Given the description of an element on the screen output the (x, y) to click on. 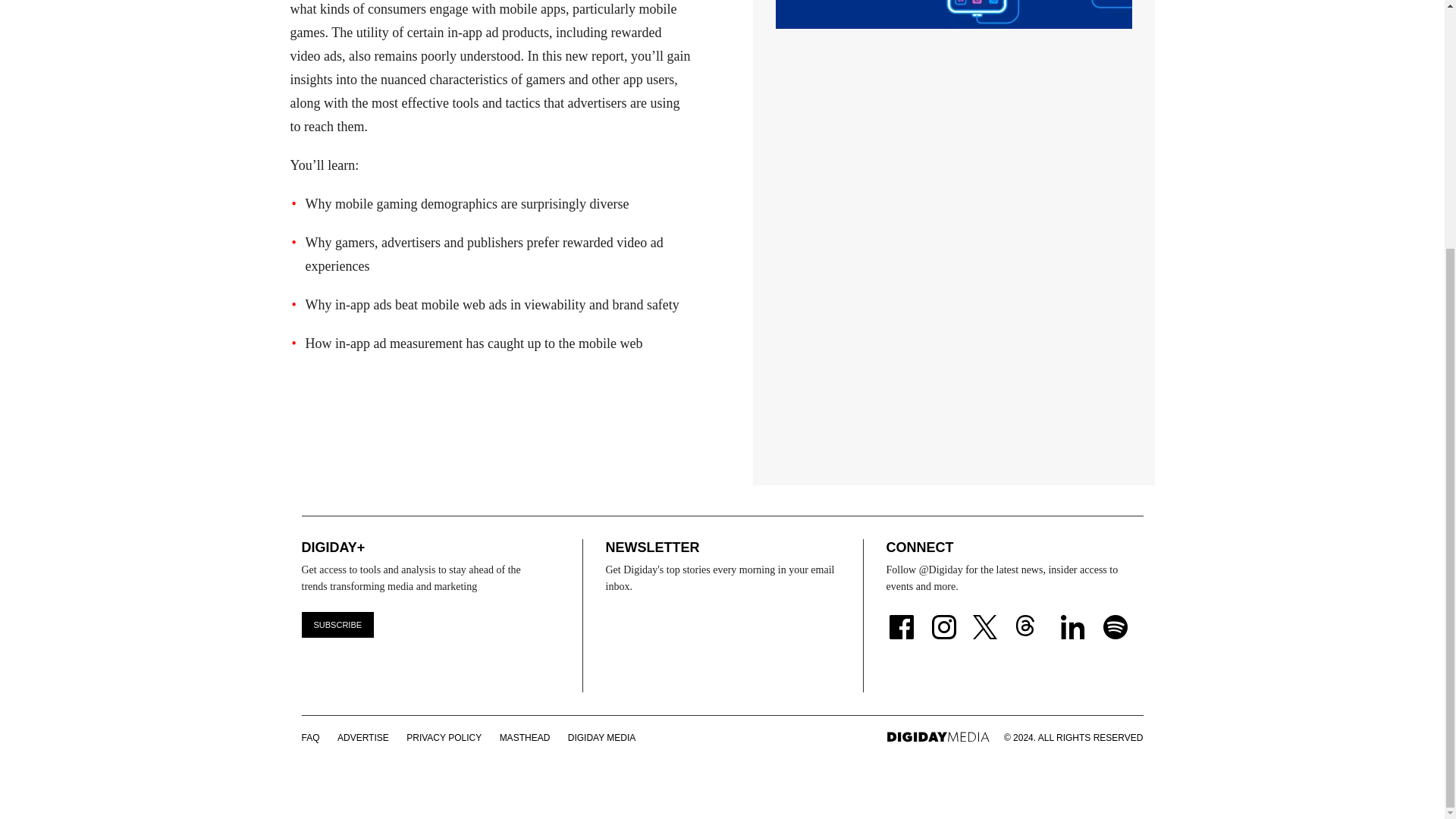
Follow us on Twitter (987, 617)
Follow us on Spotify (1115, 617)
Follow us on Threads (1032, 617)
Like us on Facebook (900, 617)
Follow us on Instagram (943, 617)
Follow us on LinkedIn (1072, 617)
Subscribe (337, 624)
